Given the description of an element on the screen output the (x, y) to click on. 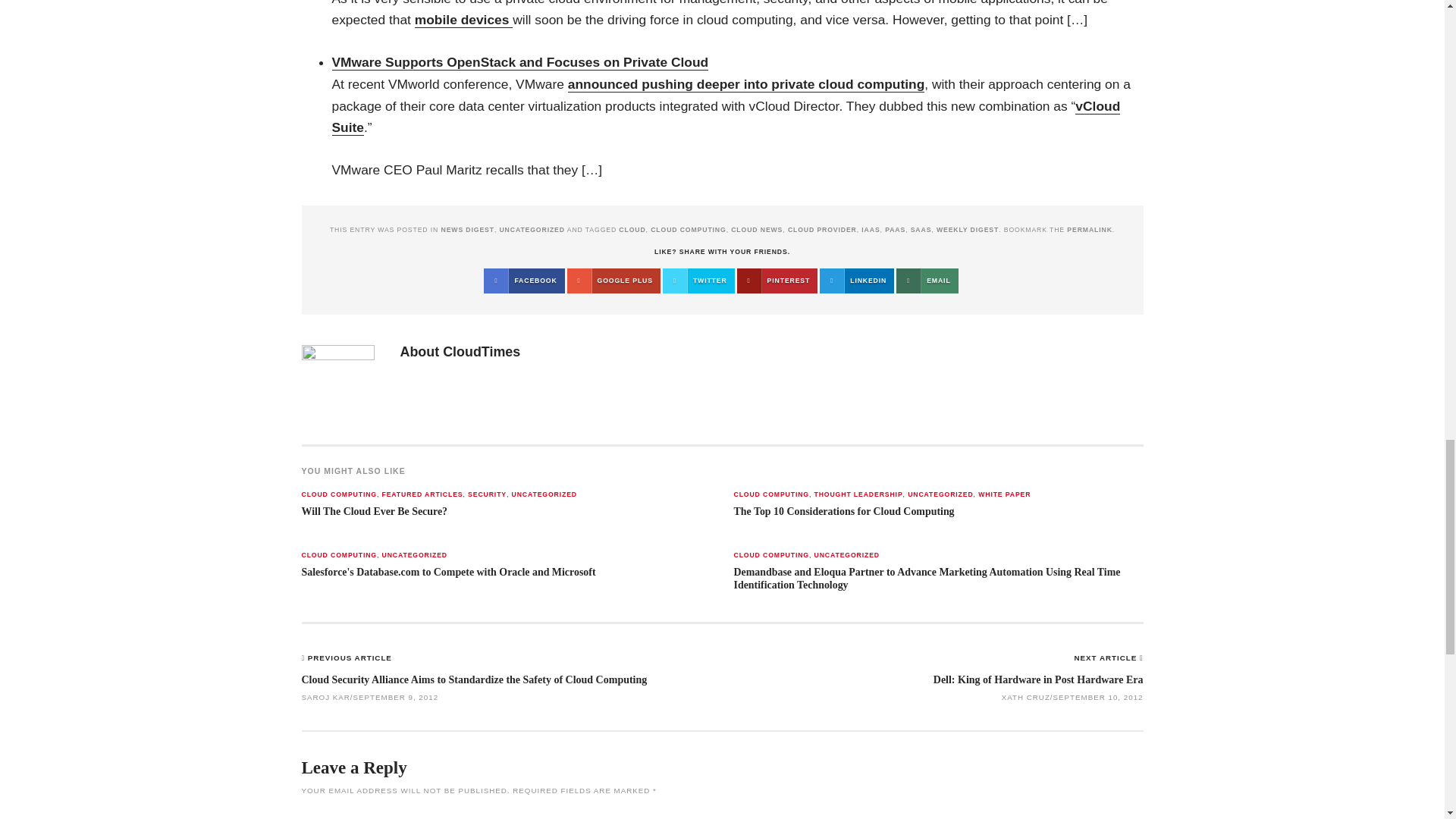
The Future of Mobile Phones is in the Apps (463, 19)
Posts by CloudTimes (480, 351)
VMware Catches The Cloud Fever Too (745, 84)
